Given the description of an element on the screen output the (x, y) to click on. 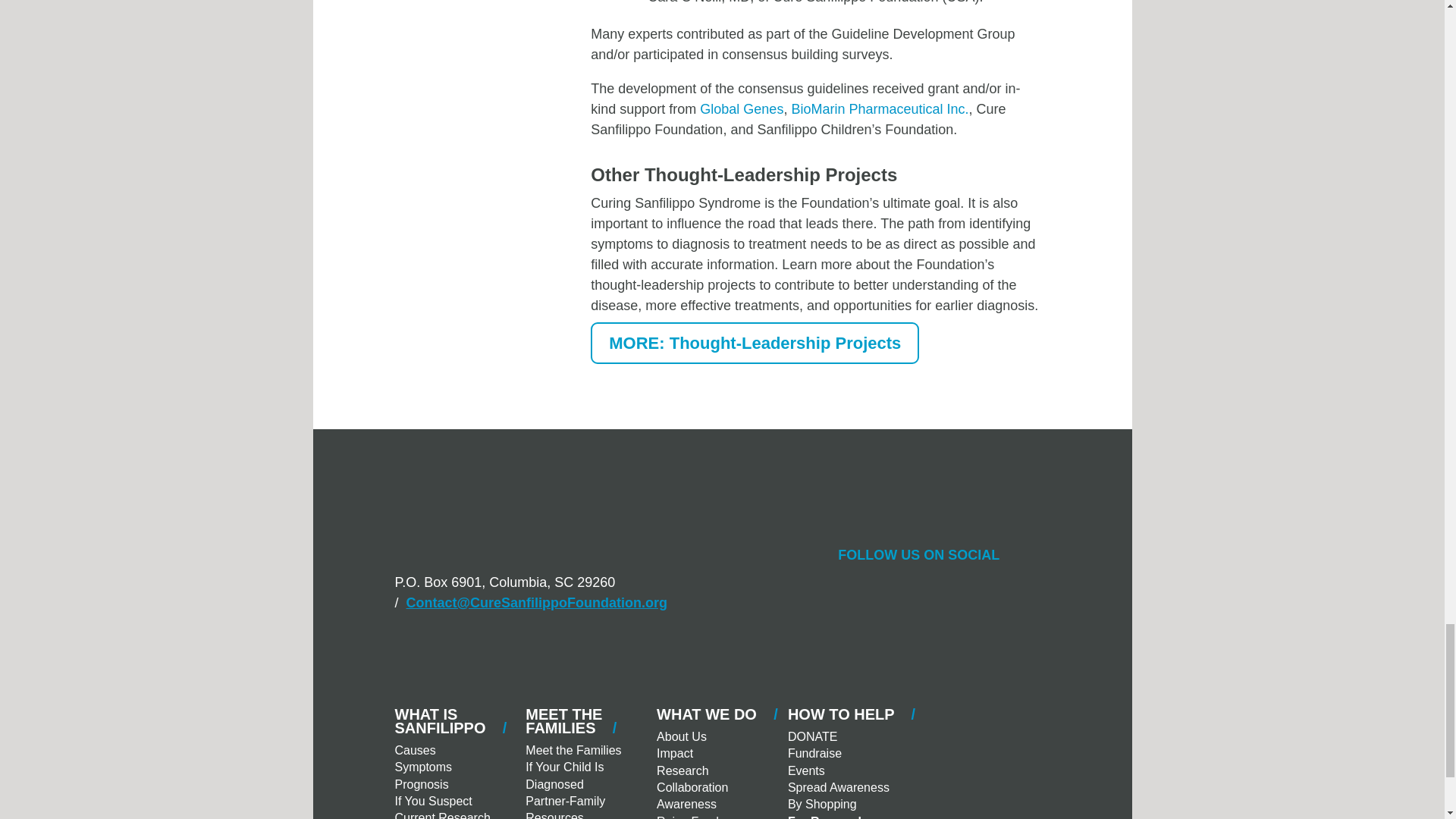
CharityNavigator-Candid-2024-Web (721, 657)
